Given the description of an element on the screen output the (x, y) to click on. 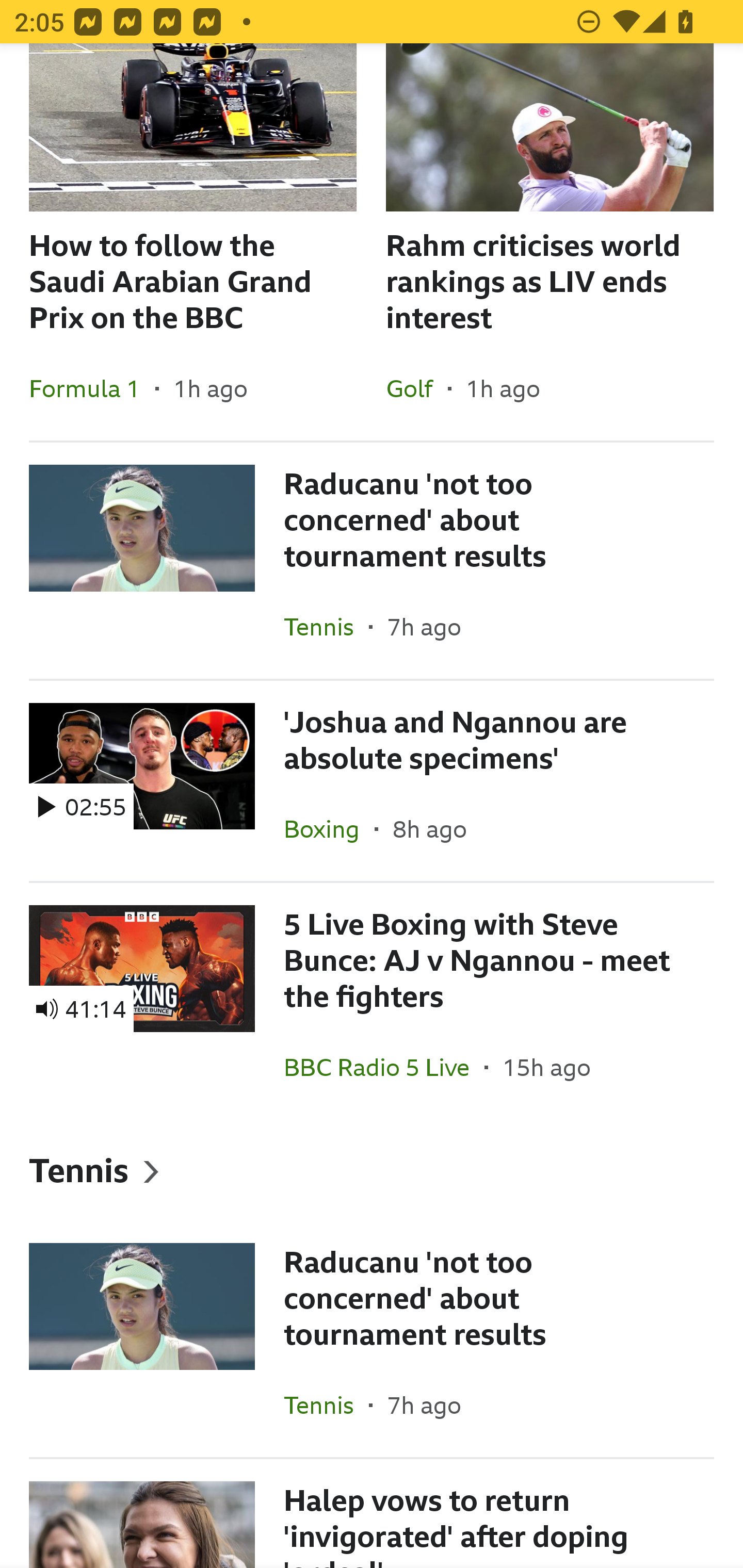
Tennis, Heading Tennis    (371, 1170)
